Given the description of an element on the screen output the (x, y) to click on. 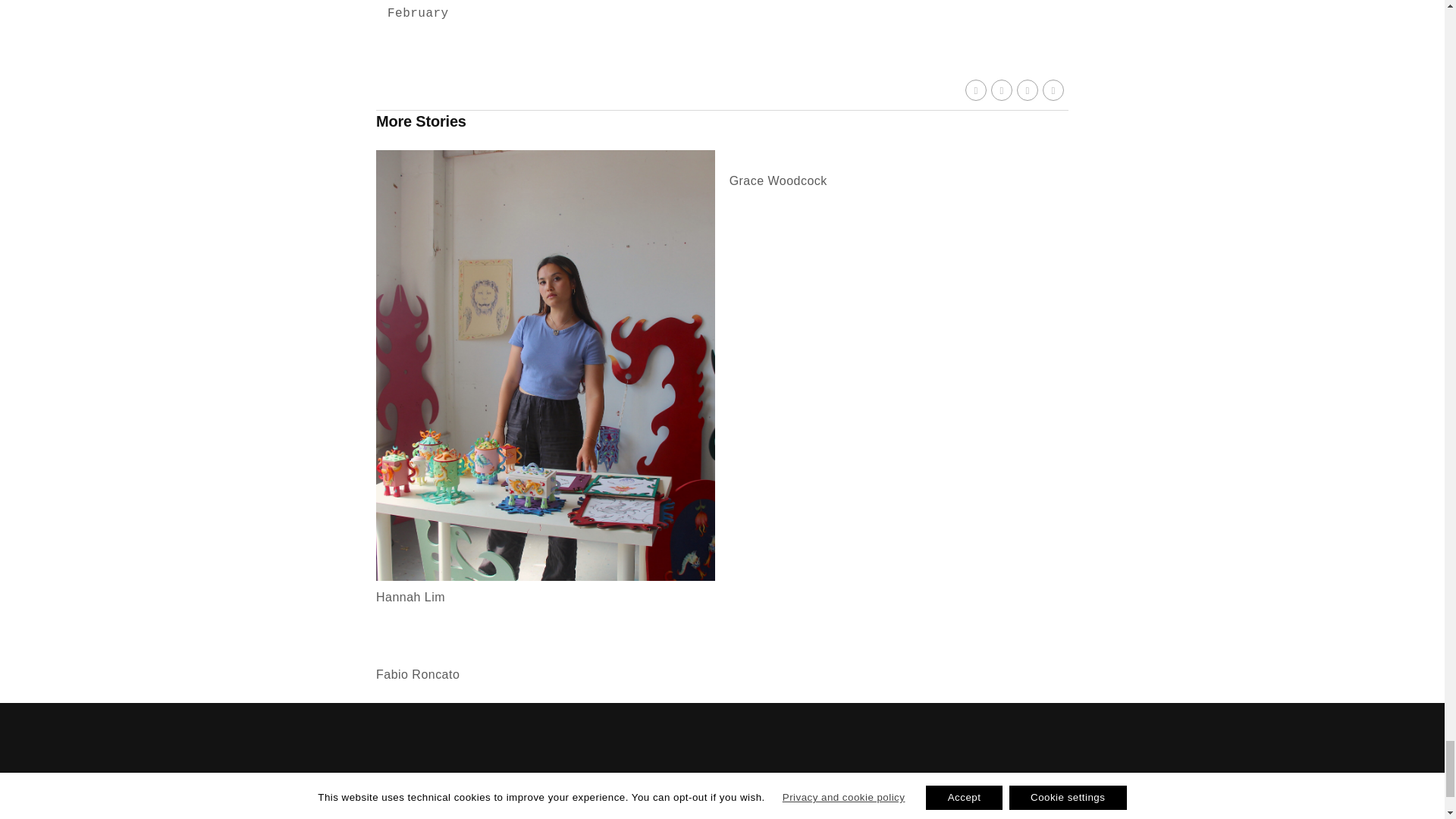
Grace Woodcock (898, 180)
Hannah Lim (544, 597)
Hannah Lim (544, 576)
Fabio Roncato (544, 674)
